Given the description of an element on the screen output the (x, y) to click on. 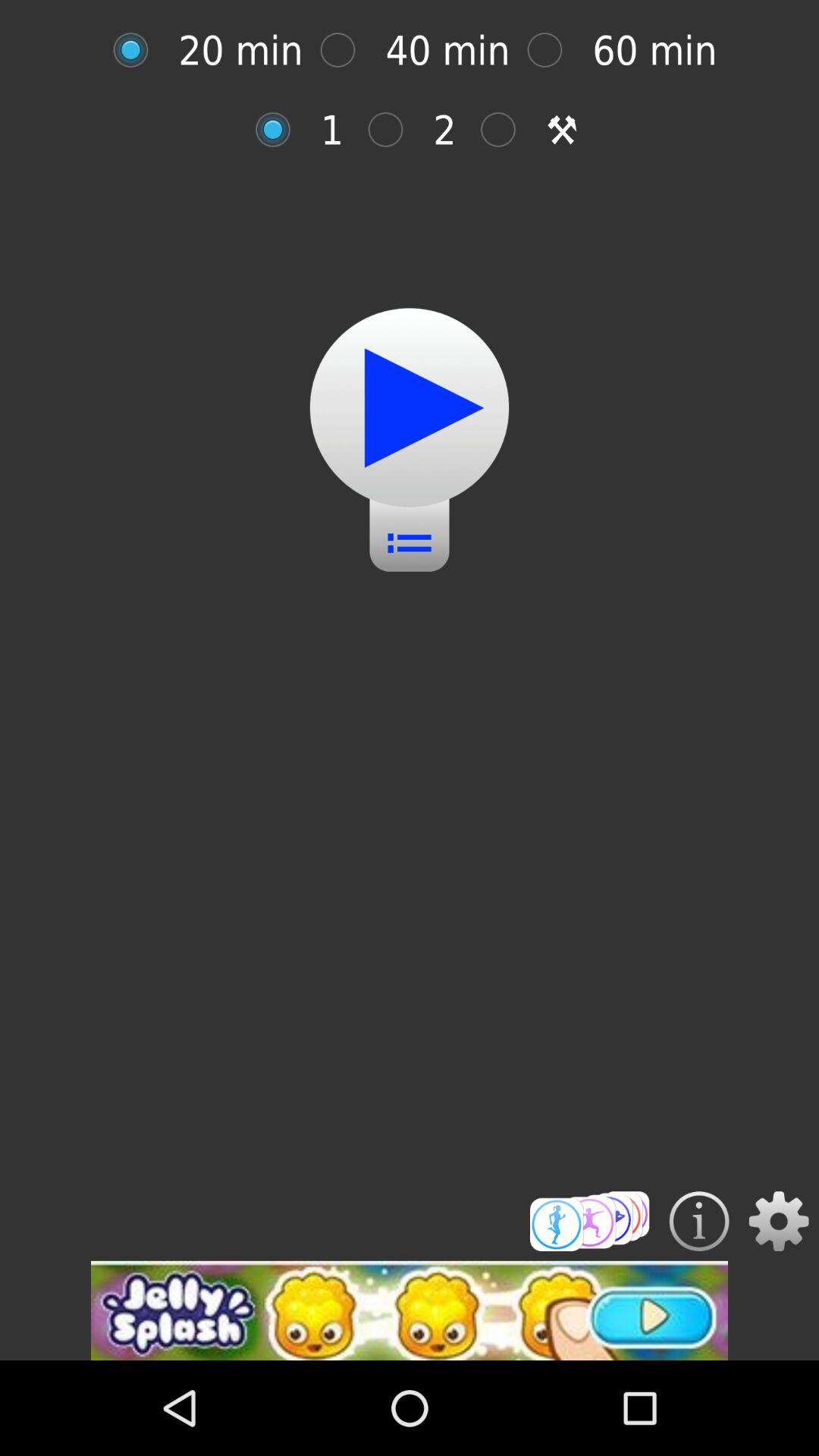
select 40 minute option (345, 49)
